Given the description of an element on the screen output the (x, y) to click on. 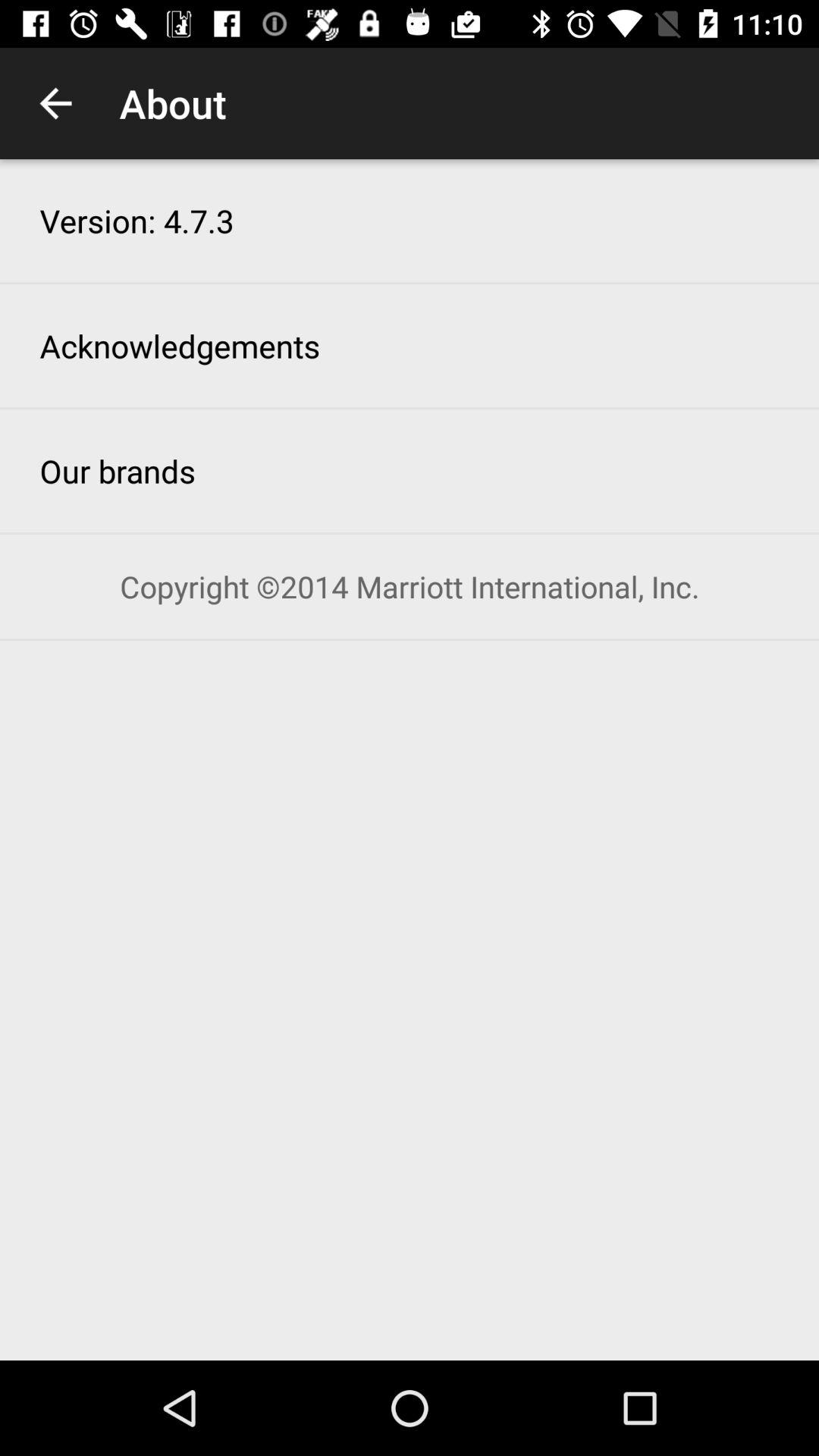
turn on our brands (117, 470)
